Given the description of an element on the screen output the (x, y) to click on. 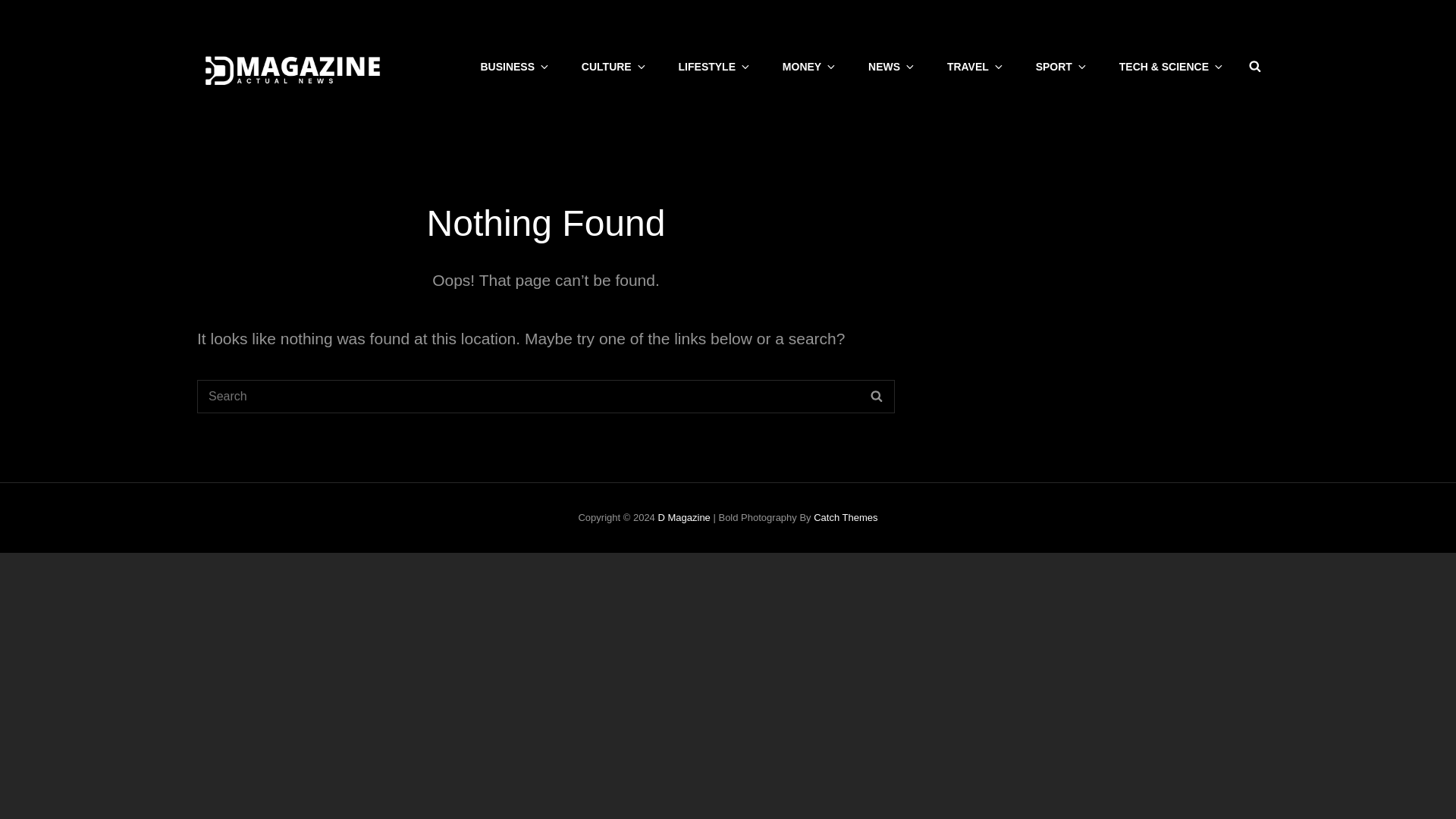
D MAGAZINE (451, 76)
MONEY (807, 66)
CULTURE (612, 66)
LIFESTYLE (712, 66)
BUSINESS (513, 66)
